Given the description of an element on the screen output the (x, y) to click on. 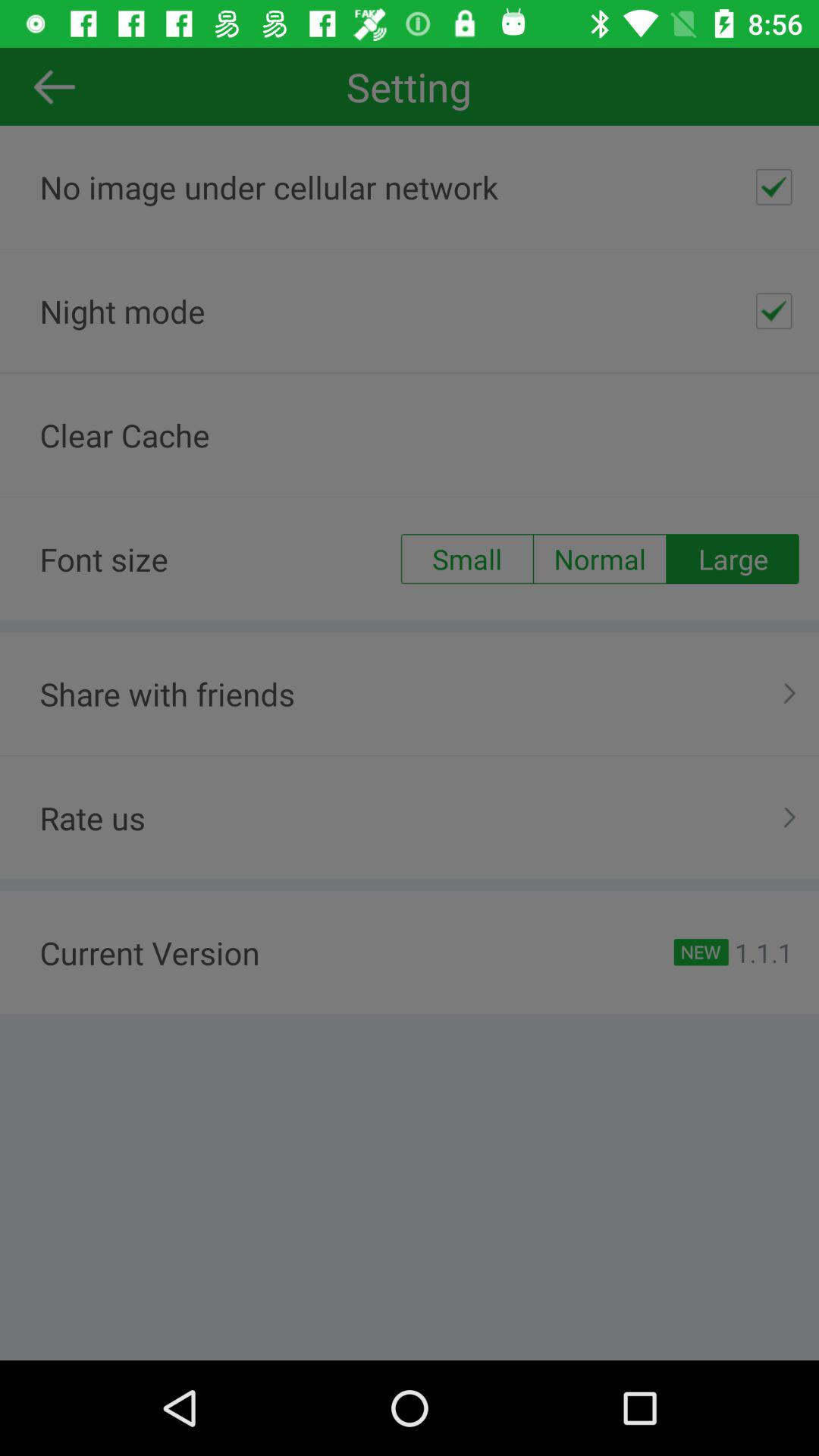
turn on the item above the share with friends item (466, 559)
